Given the description of an element on the screen output the (x, y) to click on. 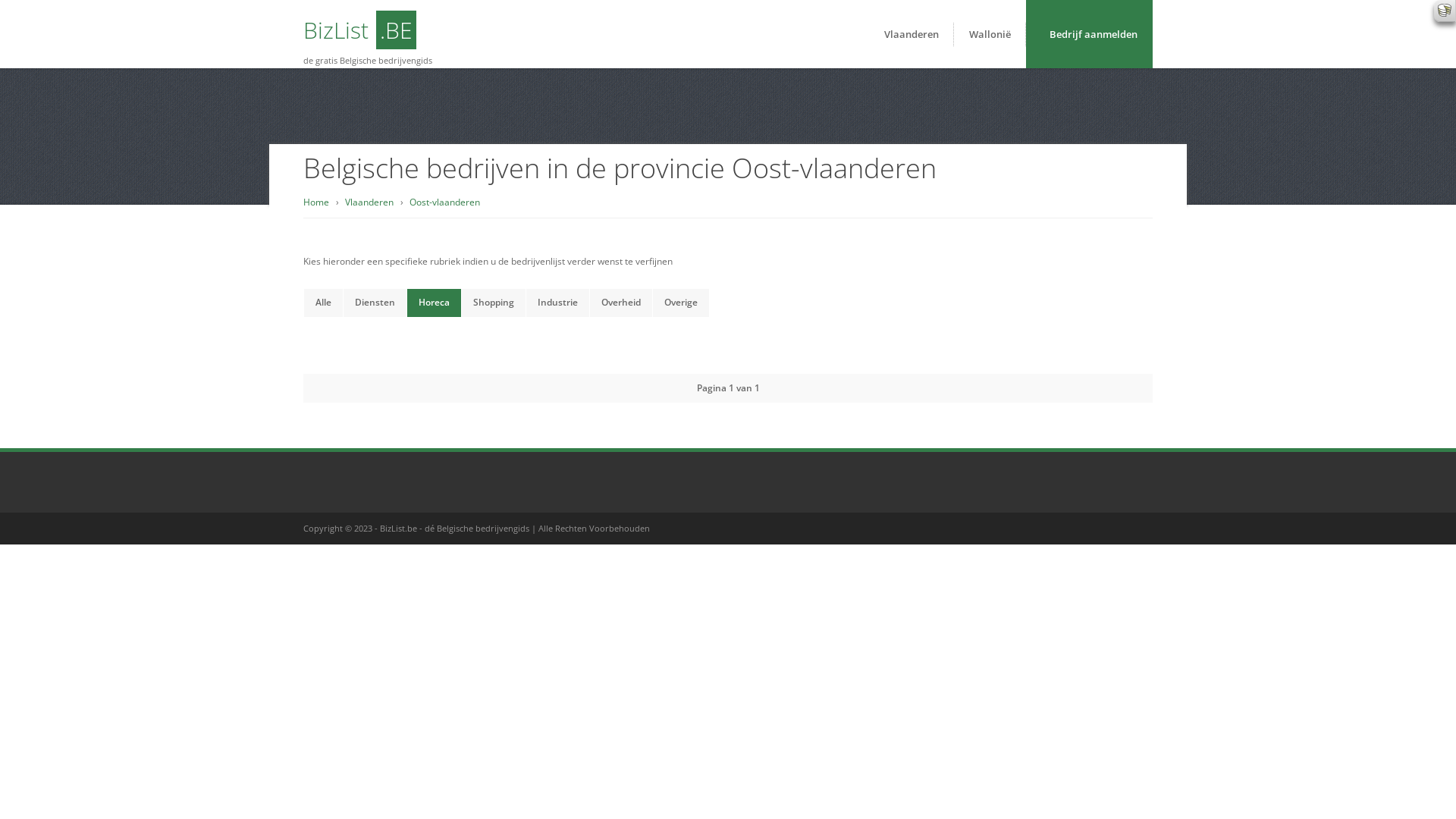
Overige Element type: text (680, 302)
Home Element type: text (316, 201)
Diensten Element type: text (374, 302)
Industrie Element type: text (557, 302)
Vlaanderen Element type: text (911, 34)
Oost-vlaanderen Element type: text (444, 201)
Vlaanderen Element type: text (369, 201)
Overheid Element type: text (620, 302)
BizList.BE Element type: text (359, 29)
Alle Element type: text (323, 302)
Horeca Element type: text (434, 302)
Shopping Element type: text (493, 302)
